Given the description of an element on the screen output the (x, y) to click on. 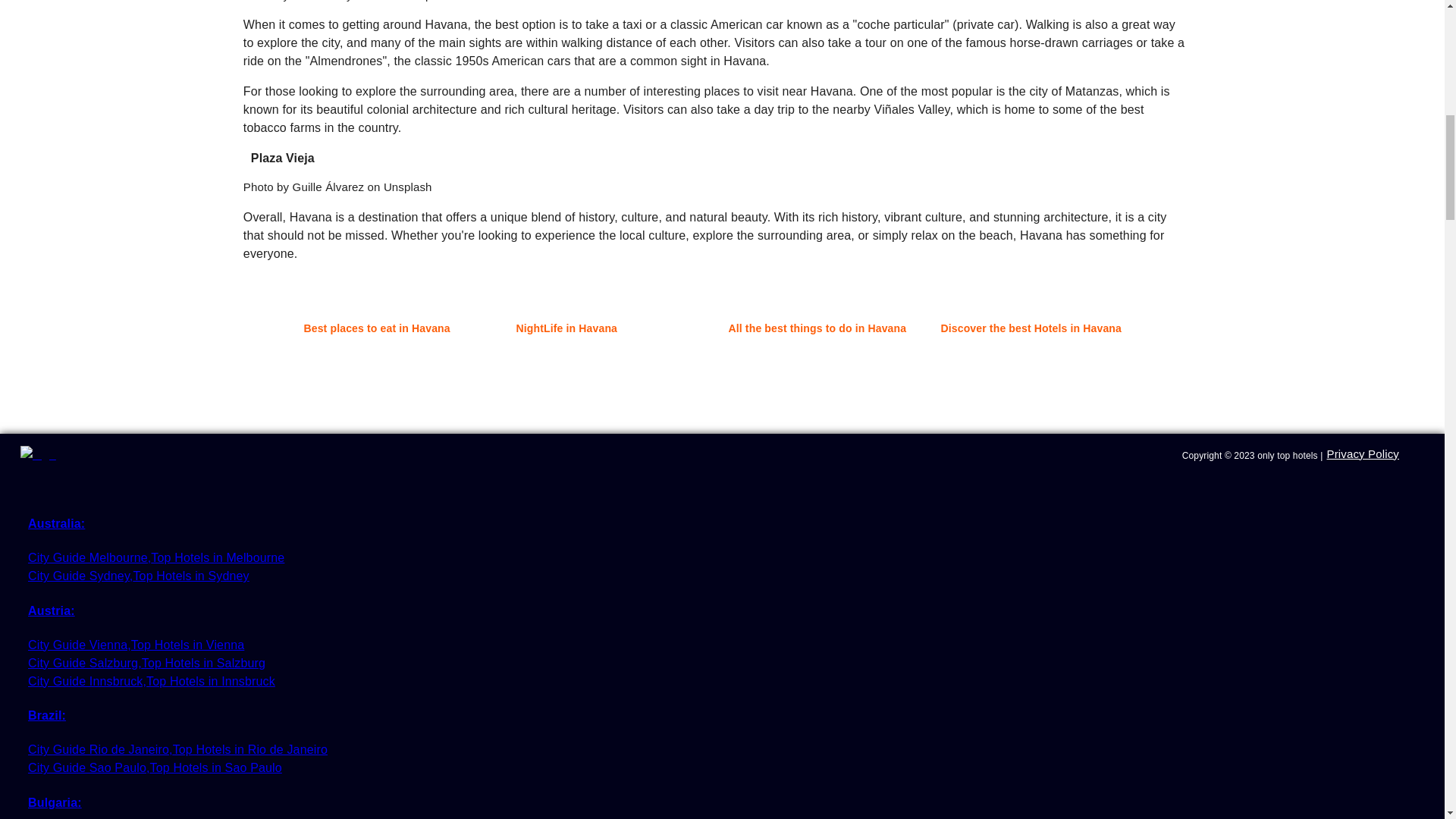
Discover the best Hotels in Havana (1034, 328)
City Guide Vienna, (79, 644)
Best places to eat in Havana (397, 328)
Top Hotels in Vienna (187, 644)
City Guide Innsbruck, (87, 680)
Top Hotels in Melbourne (217, 557)
City Guide Salzburg, (84, 662)
Unsplash (428, 0)
Top Hotels in Innsbruck (211, 680)
Unsplash (408, 186)
Top Hotels in Salzburg (202, 662)
All the best things to do in Havana (821, 328)
Austria: (212, 610)
Top Hotels in Sydney (190, 575)
City Guide Sydney, (79, 575)
